Given the description of an element on the screen output the (x, y) to click on. 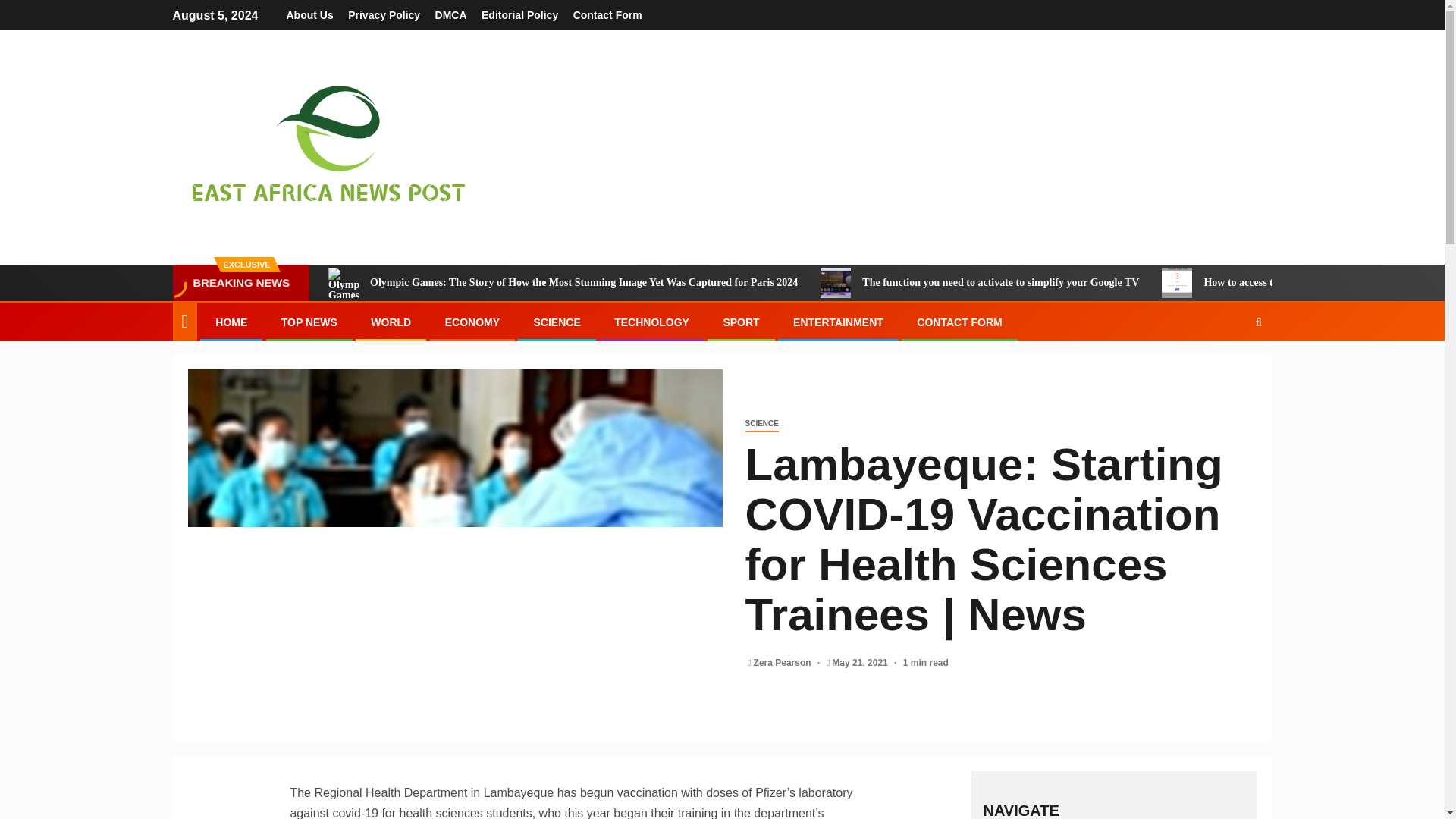
HOME (231, 322)
Contact Form (607, 15)
TOP NEWS (309, 322)
TECHNOLOGY (651, 322)
ECONOMY (472, 322)
Search (1229, 368)
DMCA (451, 15)
The function you need to activate to simplify your Google TV (979, 282)
